Given the description of an element on the screen output the (x, y) to click on. 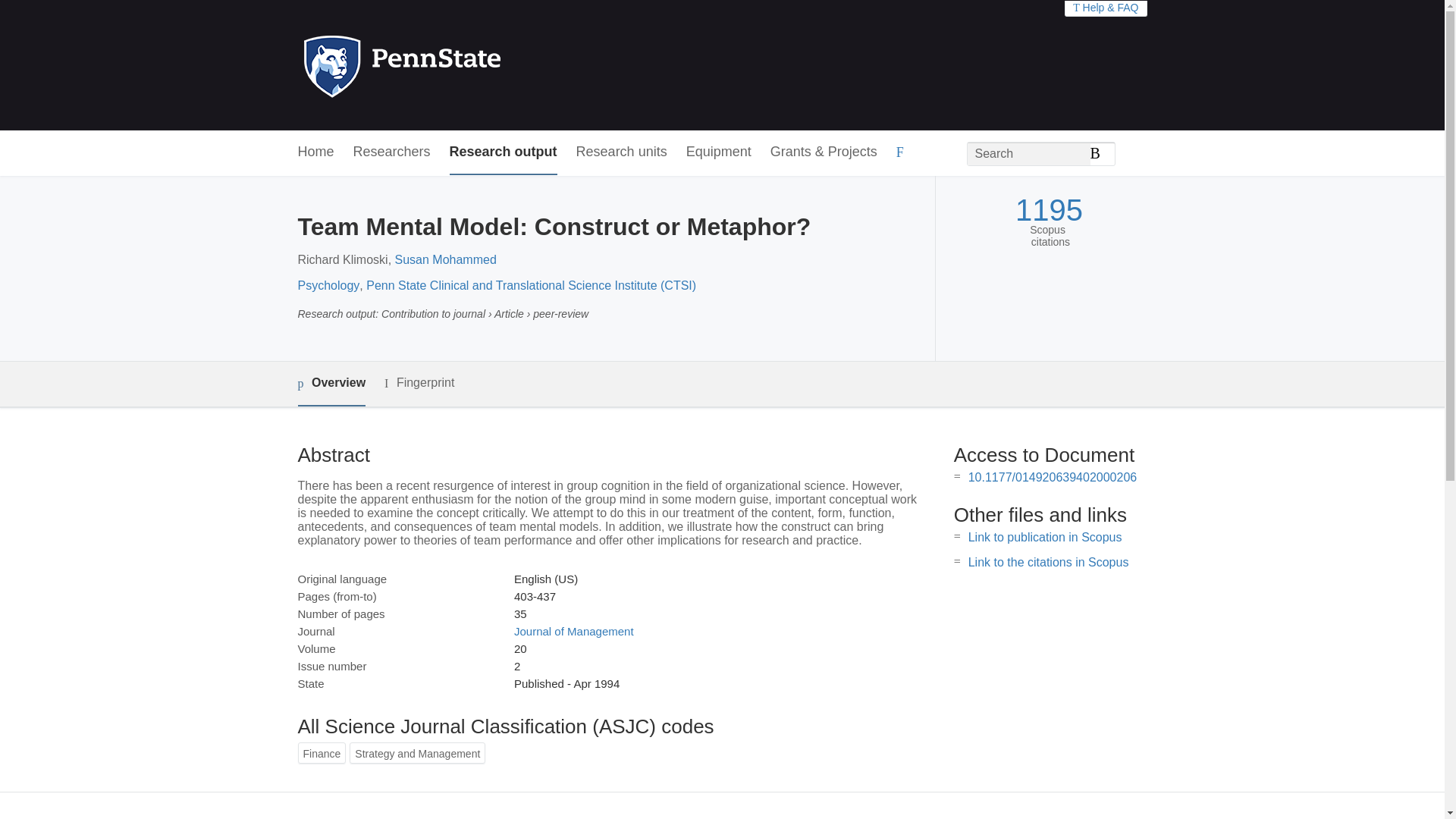
Researchers (391, 152)
Penn State Home (467, 65)
Research output (503, 152)
Research units (621, 152)
Equipment (718, 152)
Susan Mohammed (445, 259)
1195 (1048, 210)
Link to publication in Scopus (1045, 536)
Link to the citations in Scopus (1048, 562)
